Given the description of an element on the screen output the (x, y) to click on. 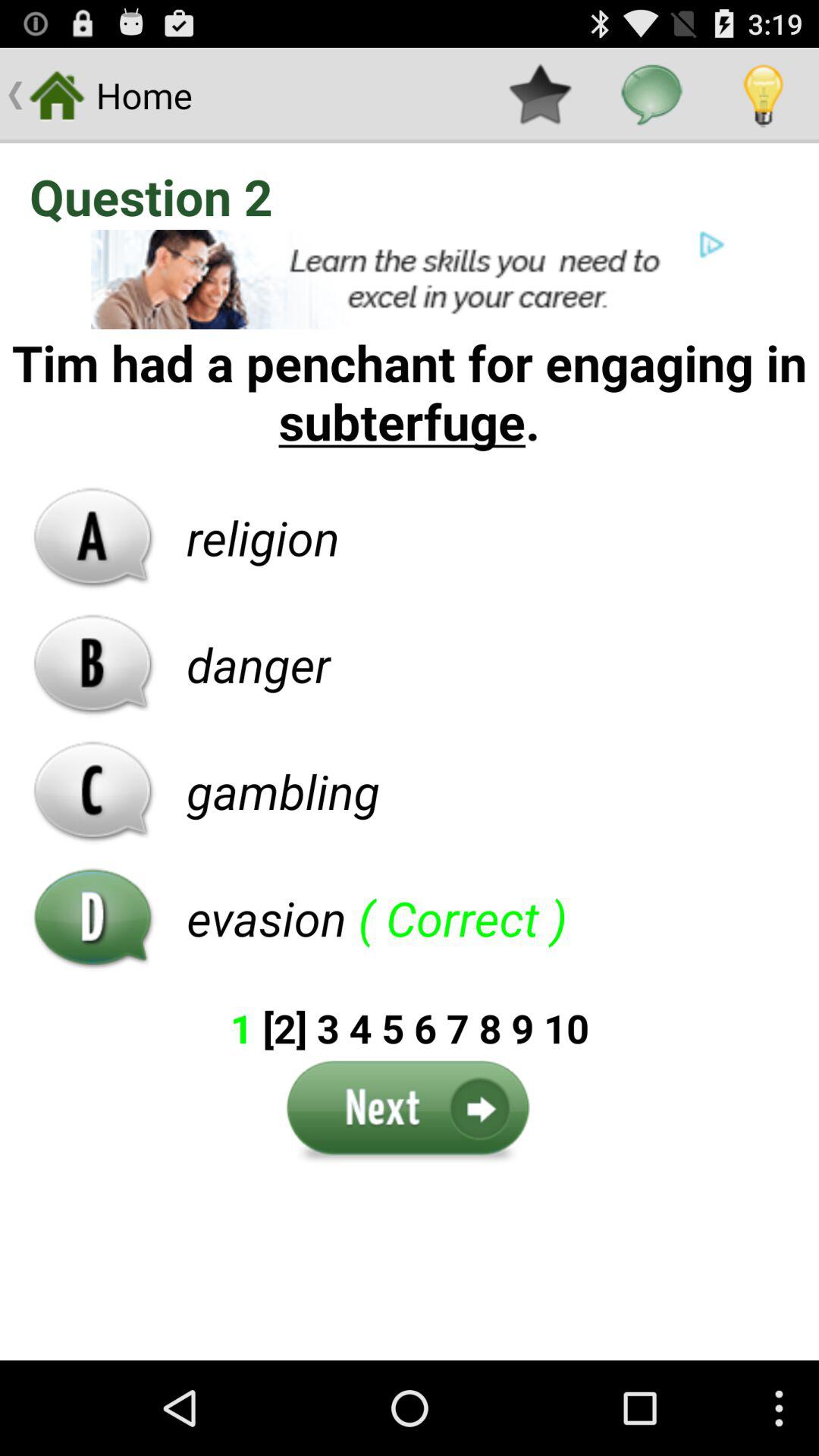
turn on item above question 2 (540, 95)
